Given the description of an element on the screen output the (x, y) to click on. 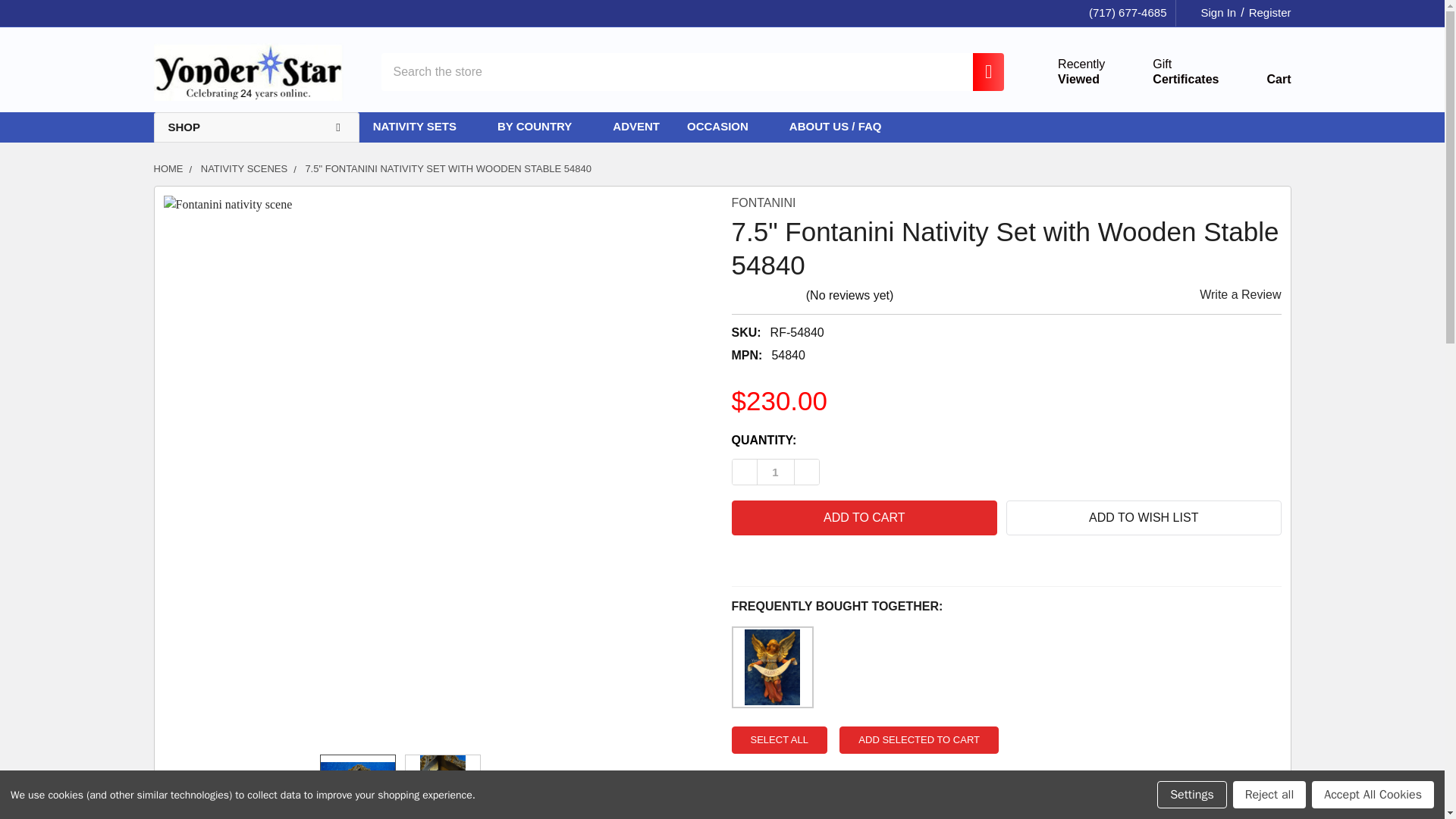
large Fontanini nativity set (443, 787)
Fontanini nativity angel (771, 667)
Search (1167, 71)
Register (980, 71)
Facebook (1063, 71)
Search (1265, 13)
X (744, 562)
Pinterest (980, 71)
Yonder Star Christmas Shop LLC (776, 562)
Fontanini nativity scene (808, 562)
Cart (247, 71)
